Given the description of an element on the screen output the (x, y) to click on. 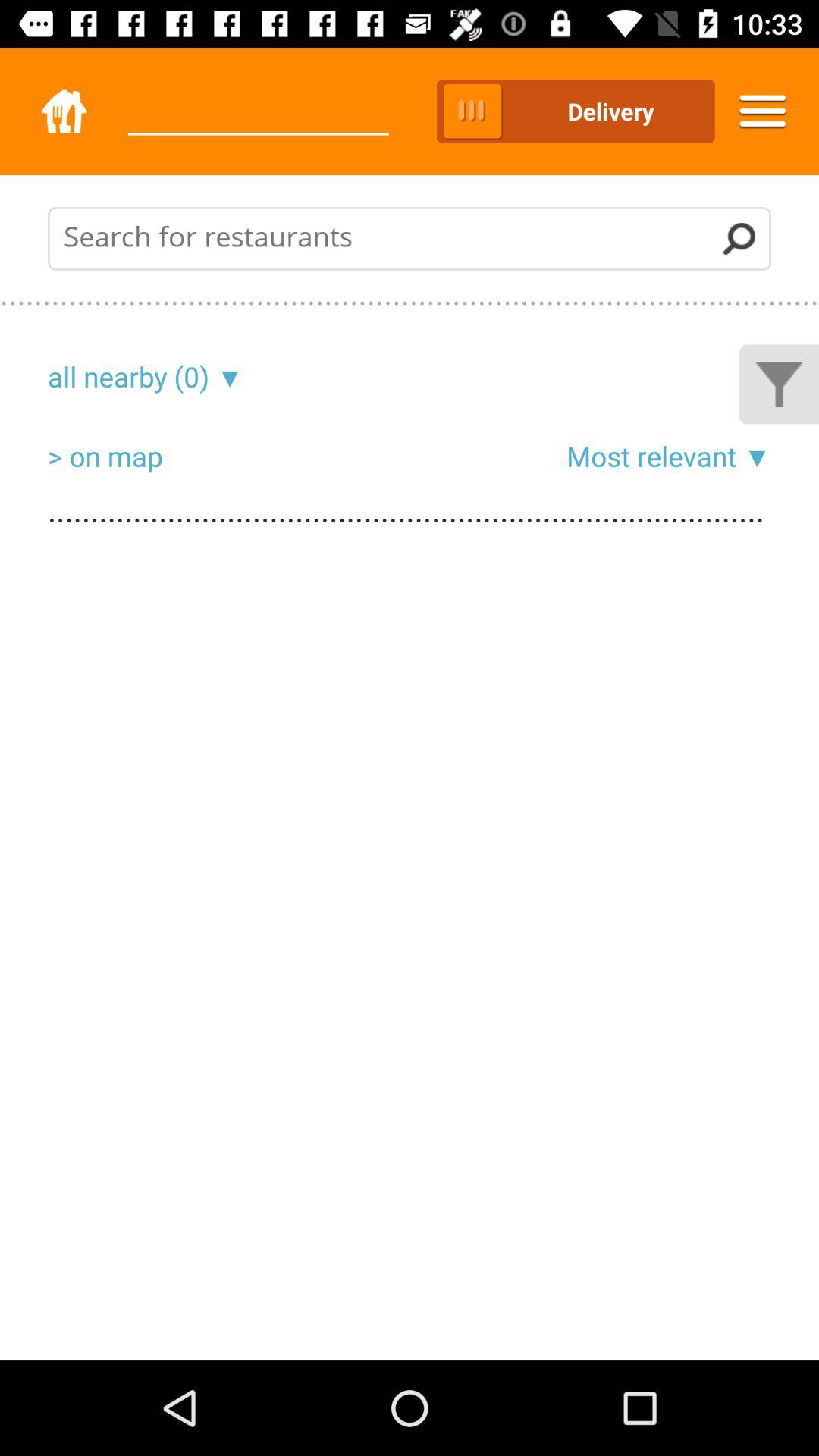
click the icon below the .................................................................................................................................................................................................................................................................................................................................................................................................................................................................................................... icon (128, 376)
